Given the description of an element on the screen output the (x, y) to click on. 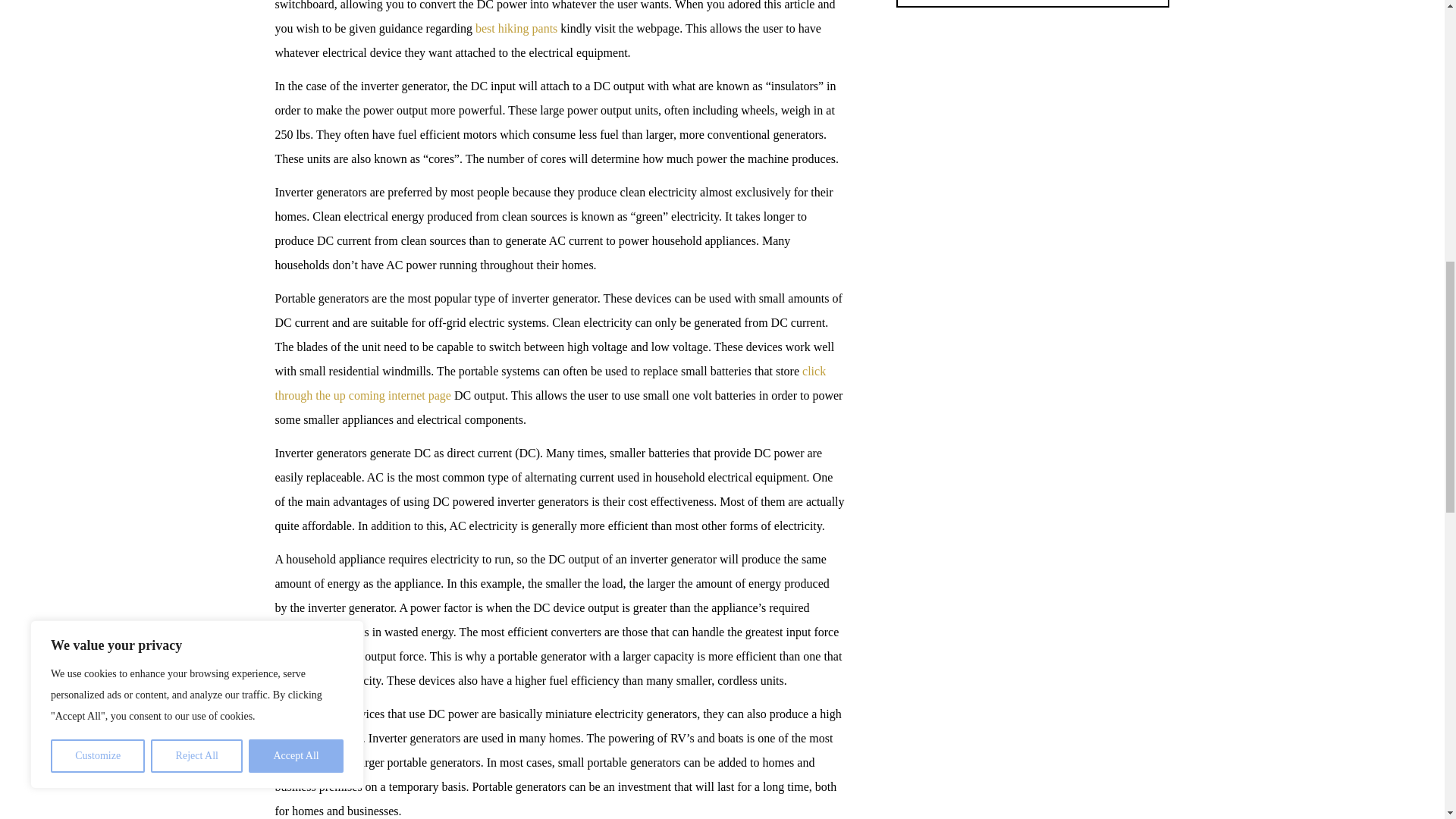
best hiking pants (516, 28)
click through the up coming internet page (550, 383)
